Given the description of an element on the screen output the (x, y) to click on. 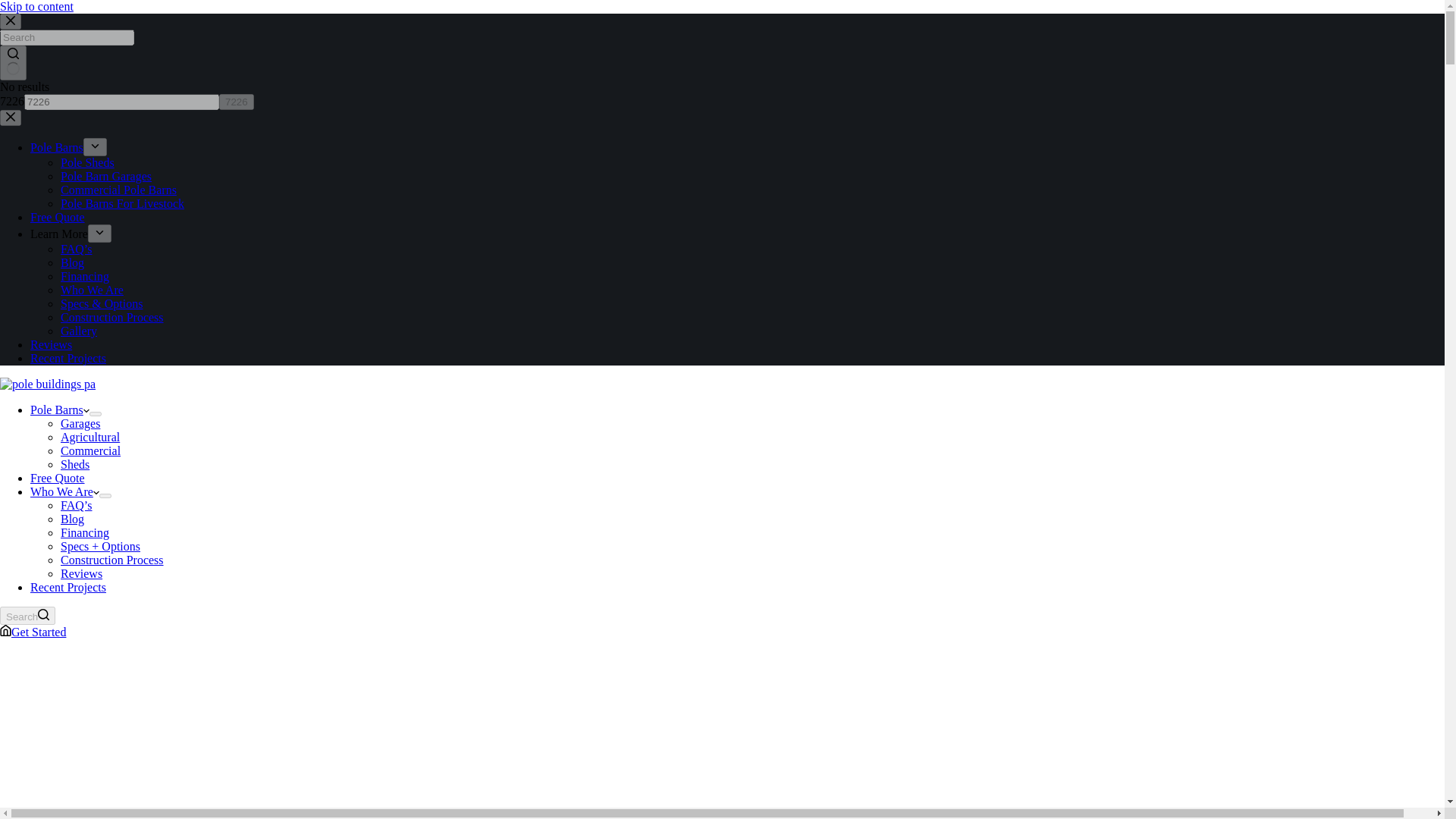
Financing (85, 532)
Who We Are (64, 491)
Agricultural (90, 436)
Reviews (50, 344)
Gallery (79, 330)
Pole Barn Garages (106, 175)
7226 (121, 101)
Recent Projects (68, 358)
Reviews (81, 573)
Pole Barns (59, 409)
Pole Sheds (88, 162)
Free Quote (57, 216)
Financing (85, 276)
7226 (121, 101)
Pole Barns For Livestock (122, 203)
